Given the description of an element on the screen output the (x, y) to click on. 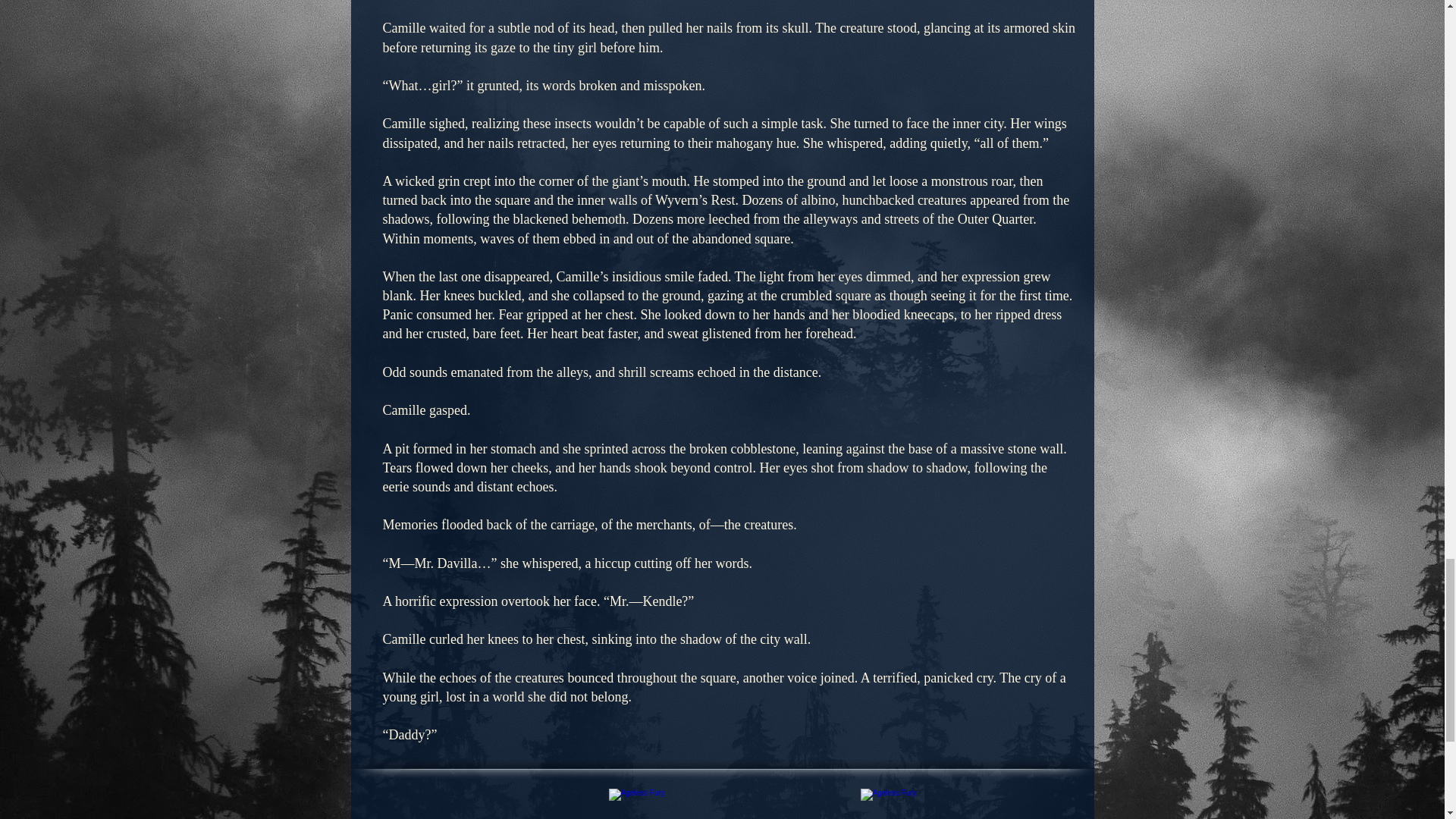
Ageless Fury (727, 803)
Ageless Fury (970, 803)
